Given the description of an element on the screen output the (x, y) to click on. 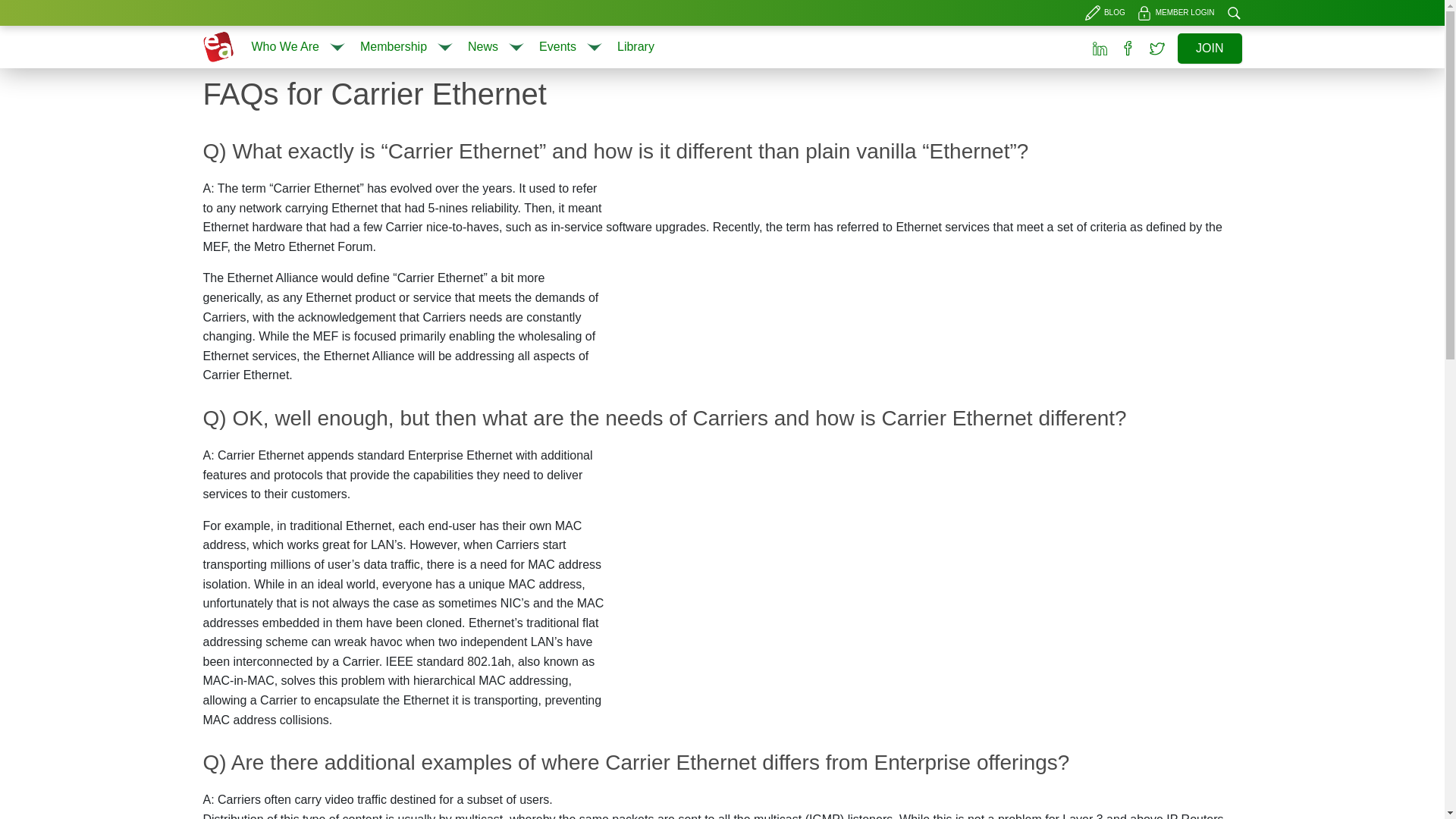
2017 (571, 88)
Membership (392, 46)
Search (1233, 12)
Library (636, 46)
Board of Directors (299, 88)
Press Releases (497, 88)
Search (1203, 93)
Events (557, 46)
Who We Are (286, 46)
News (482, 46)
JOIN (1209, 48)
BLOG (1106, 12)
MEMBER LOGIN (1177, 12)
Governing Documents (407, 88)
